Given the description of an element on the screen output the (x, y) to click on. 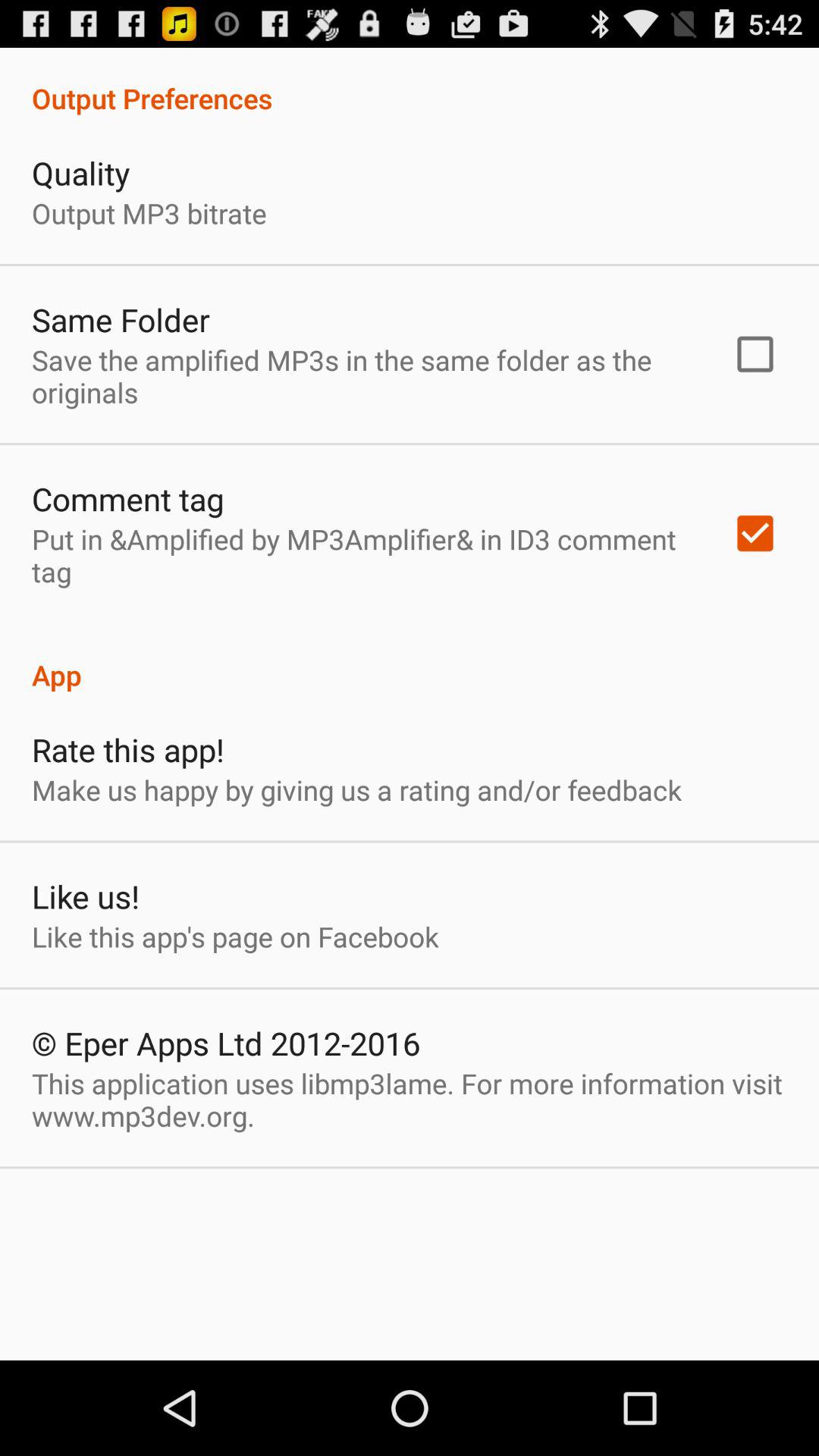
click item below the quality app (148, 213)
